Given the description of an element on the screen output the (x, y) to click on. 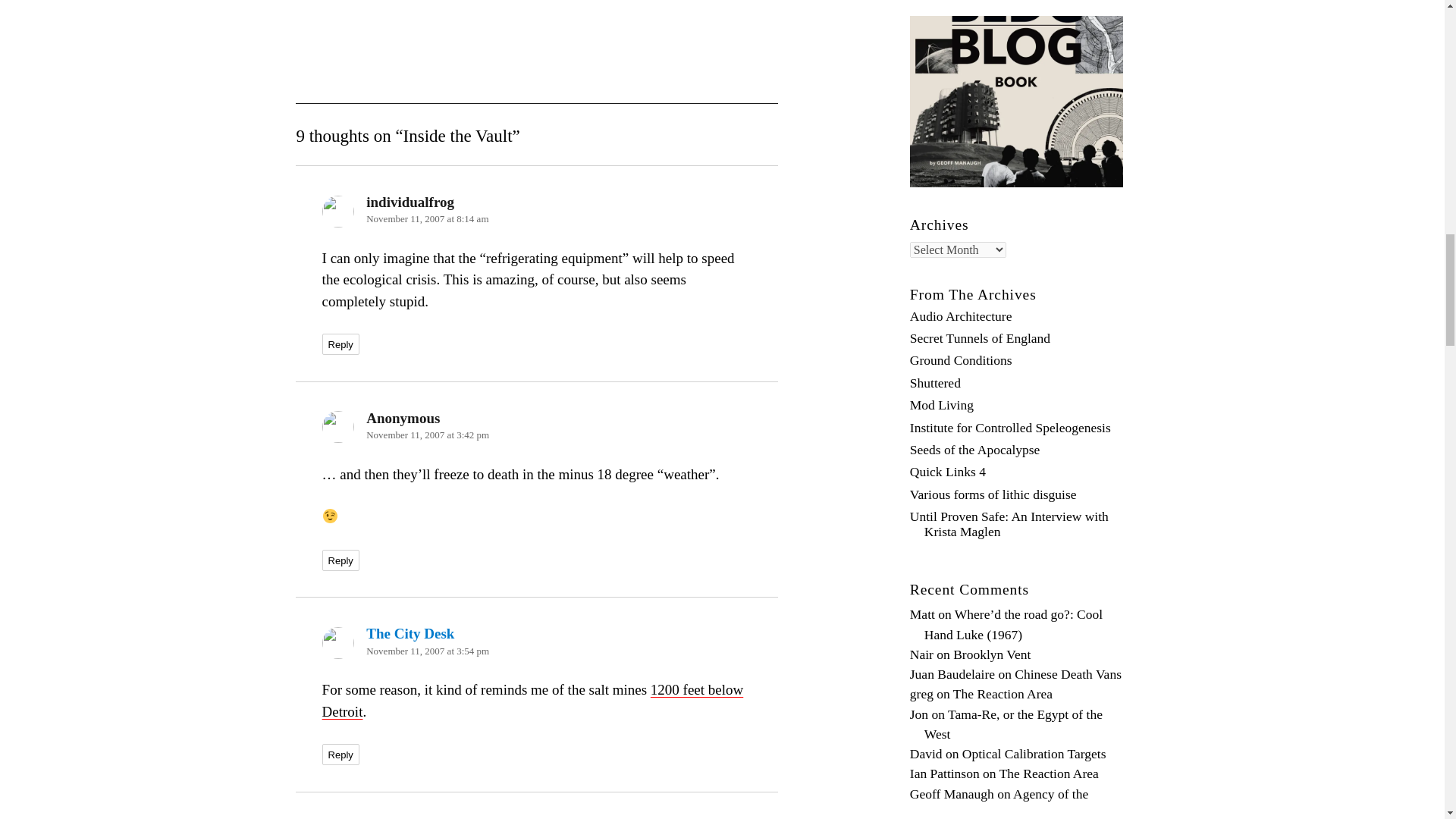
Reply (340, 753)
1200 feet below Detroit (532, 700)
November 11, 2007 at 8:14 am (426, 218)
November 11, 2007 at 3:42 pm (427, 434)
From The Archives (973, 294)
November 11, 2007 at 3:54 pm (427, 650)
The City Desk (410, 633)
Reply (340, 559)
Reply (340, 343)
